Given the description of an element on the screen output the (x, y) to click on. 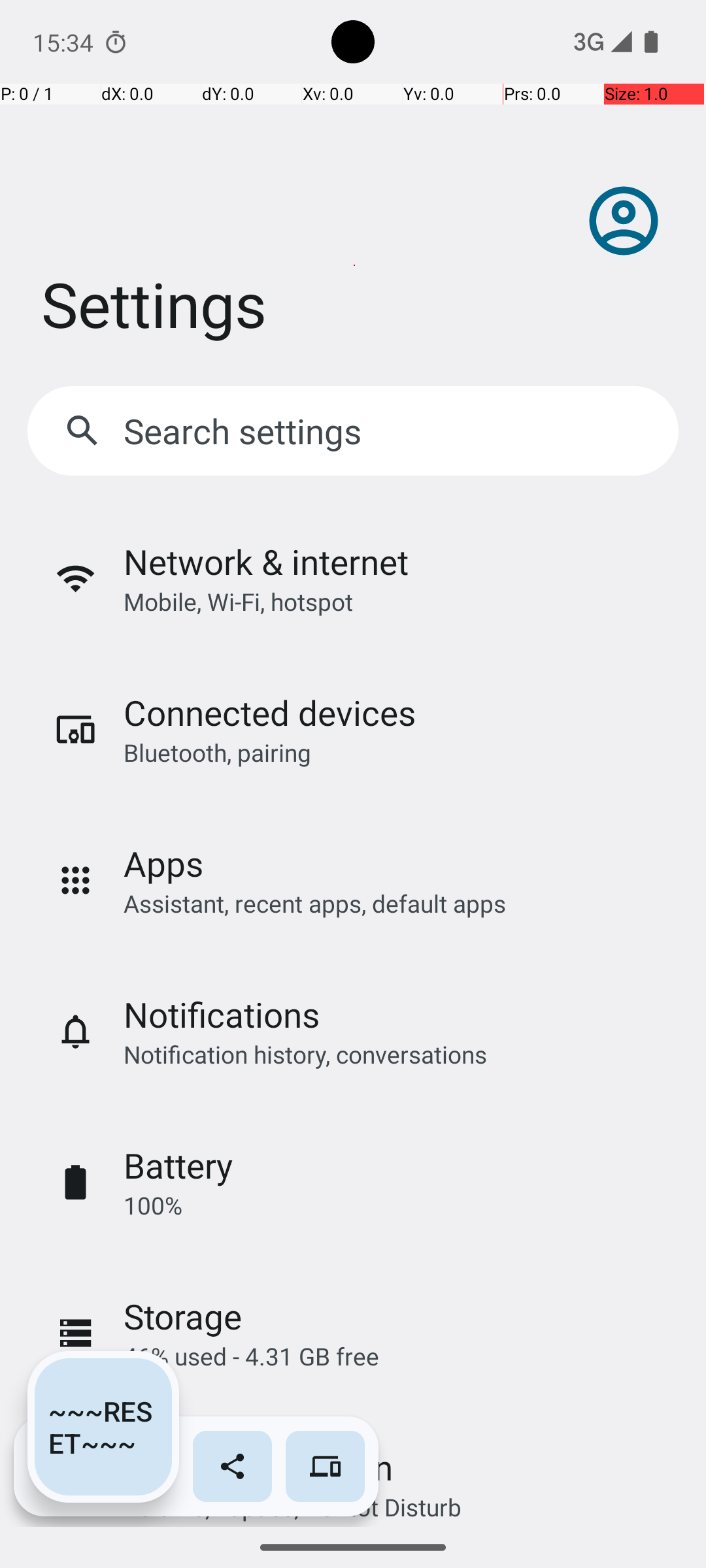
46% used - 4.31 GB free Element type: android.widget.TextView (251, 1355)
Send to nearby device Element type: android.widget.FrameLayout (324, 1466)
